Given the description of an element on the screen output the (x, y) to click on. 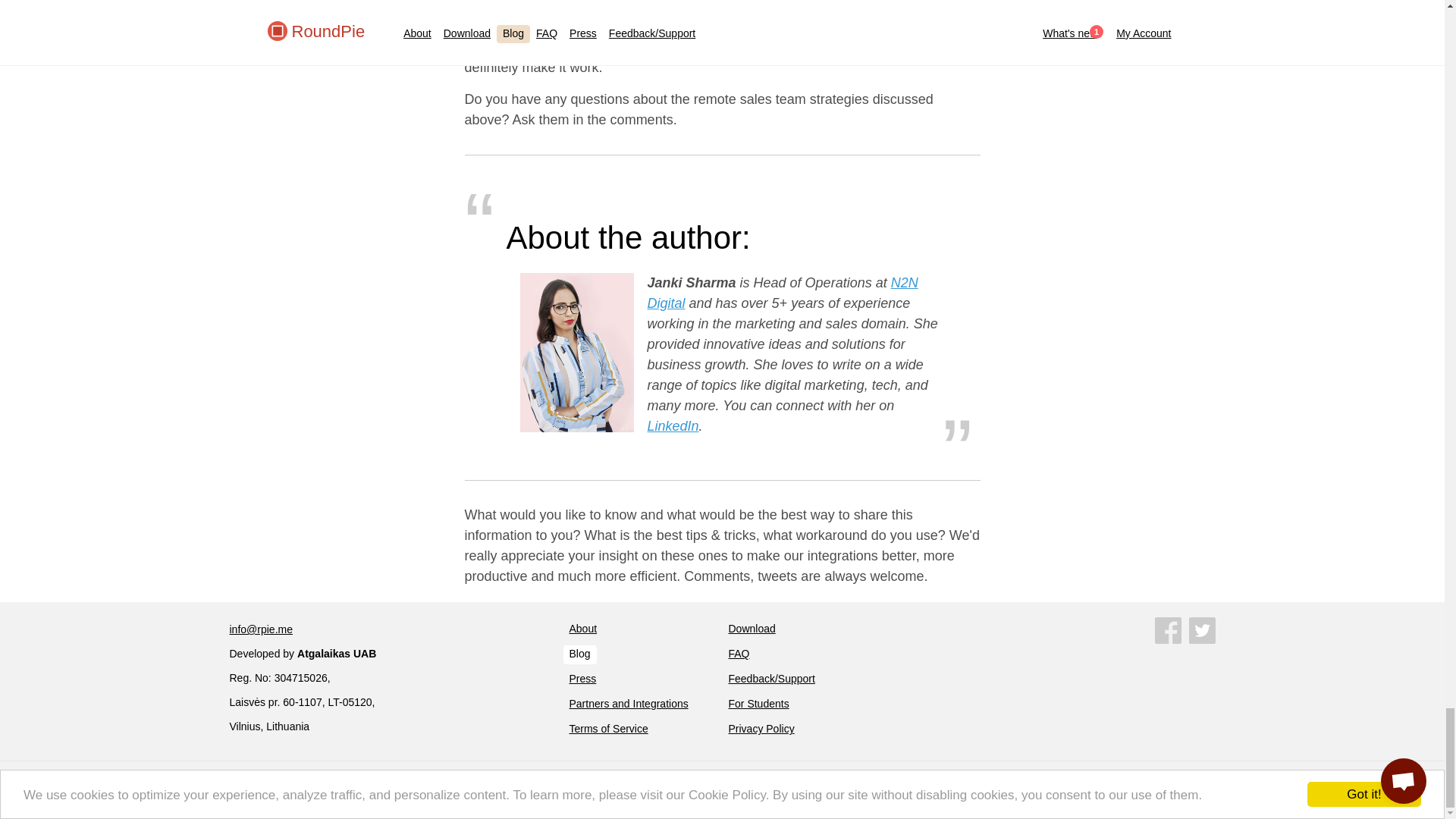
Blog. Track time and hack productivity with Tomato Technique (578, 654)
About (582, 629)
FAQ (738, 654)
Download RoundPie for free! (751, 629)
